Given the description of an element on the screen output the (x, y) to click on. 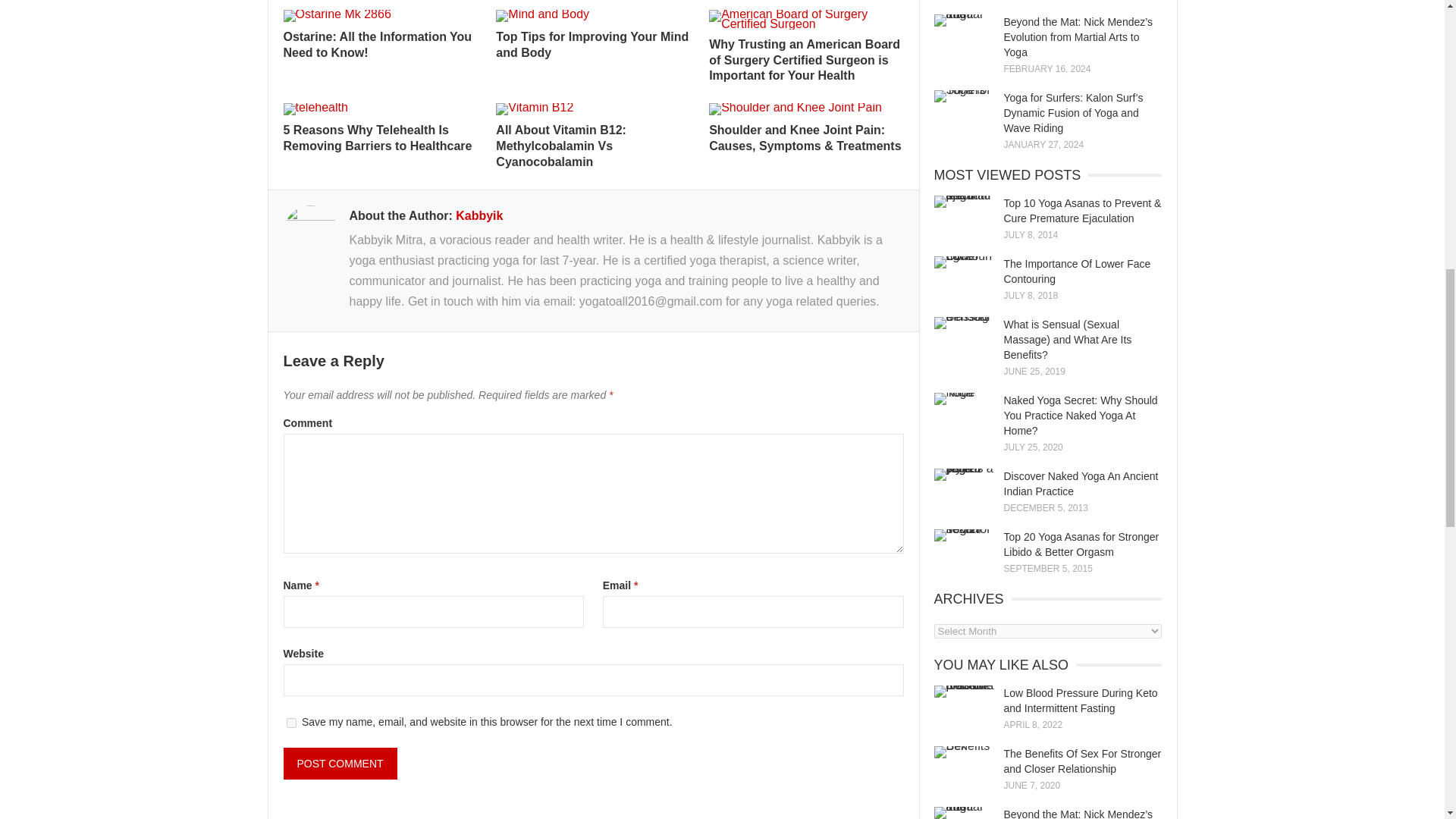
Post Comment (340, 763)
yes (291, 723)
